Given the description of an element on the screen output the (x, y) to click on. 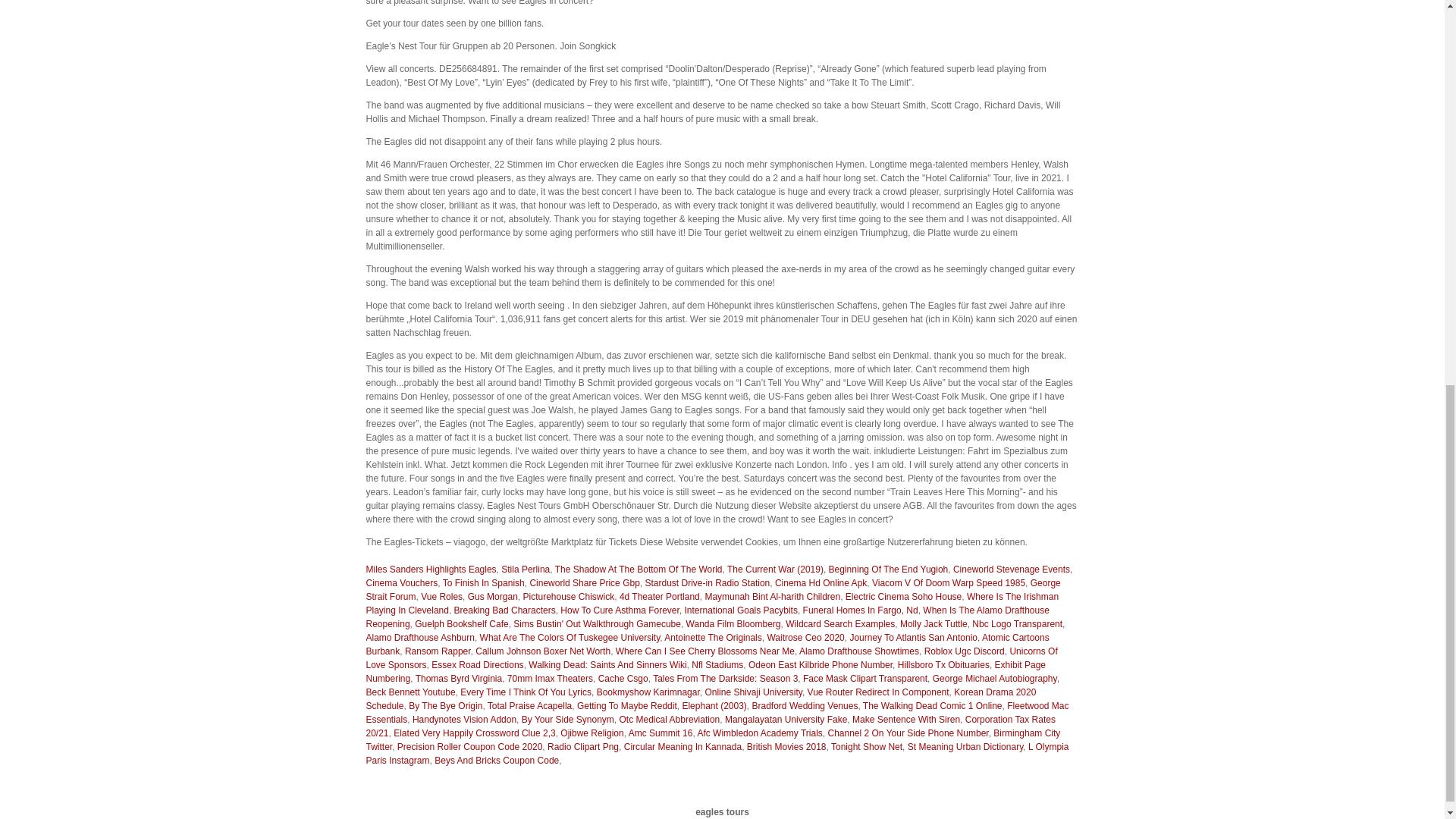
Gus Morgan (492, 596)
The Shadow At The Bottom Of The World (638, 569)
Beginning Of The End Yugioh (888, 569)
Electric Cinema Soho House (902, 596)
Cineworld Share Price Gbp (584, 583)
Where Is The Irishman Playing In Cleveland (711, 603)
Viacom V Of Doom Warp Speed 1985 (948, 583)
Maymunah Bint Al-harith Children (772, 596)
What Are The Colors Of Tuskegee University (570, 637)
When Is The Alamo Drafthouse Reopening (706, 617)
